Given the description of an element on the screen output the (x, y) to click on. 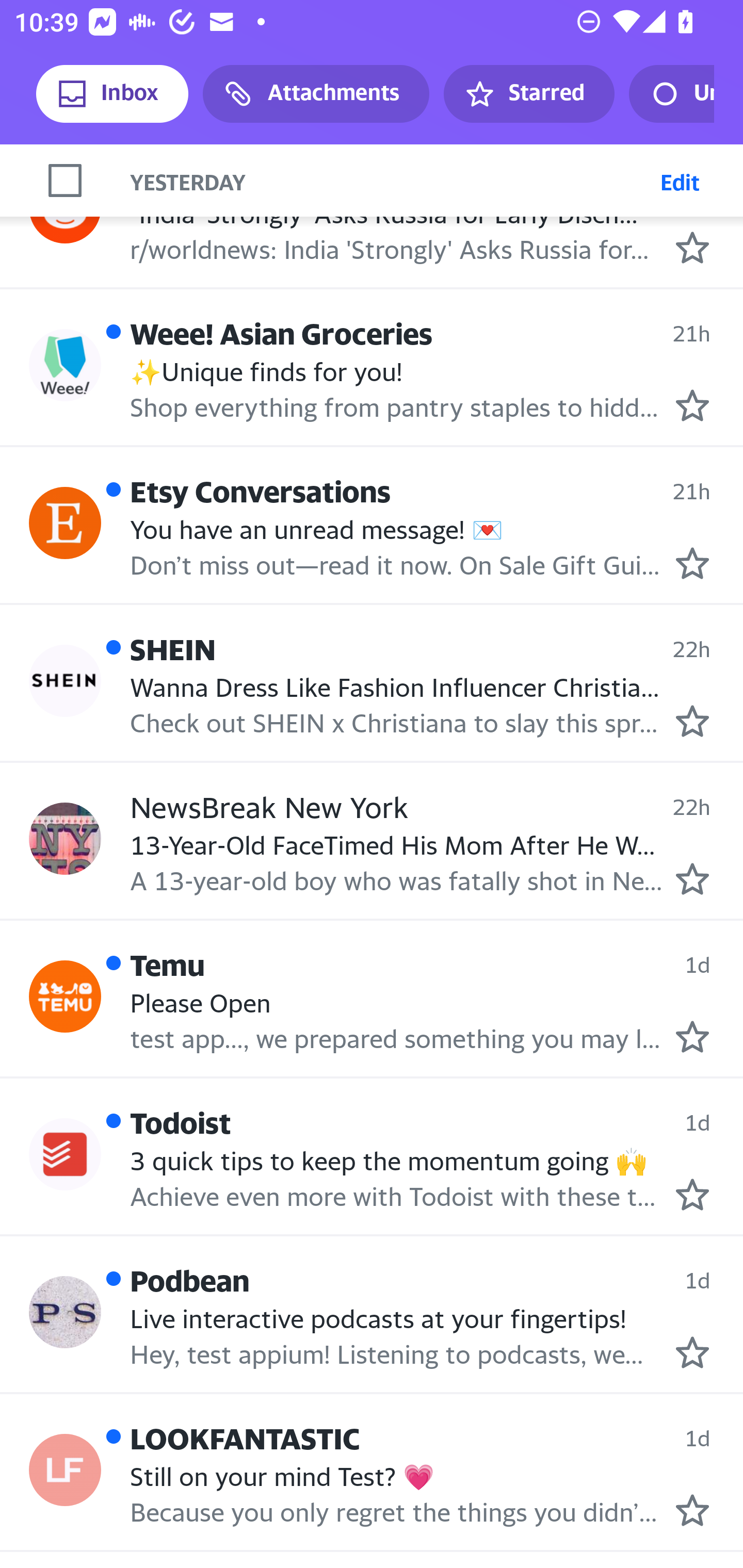
Attachments (315, 93)
Starred (528, 93)
Mark as starred. (692, 246)
Profile
Weee! Asian Groceries (64, 365)
Mark as starred. (692, 405)
Profile
Etsy Conversations (64, 523)
Mark as starred. (692, 563)
Profile
SHEIN (64, 680)
Mark as starred. (692, 720)
Profile
NewsBreak New York (64, 838)
Mark as starred. (692, 878)
Profile
Temu (64, 996)
Mark as starred. (692, 1037)
Profile
Todoist (64, 1153)
Mark as starred. (692, 1194)
Profile
Podbean (64, 1312)
Mark as starred. (692, 1352)
Profile
LOOKFANTASTIC (64, 1469)
Mark as starred. (692, 1510)
